Given the description of an element on the screen output the (x, y) to click on. 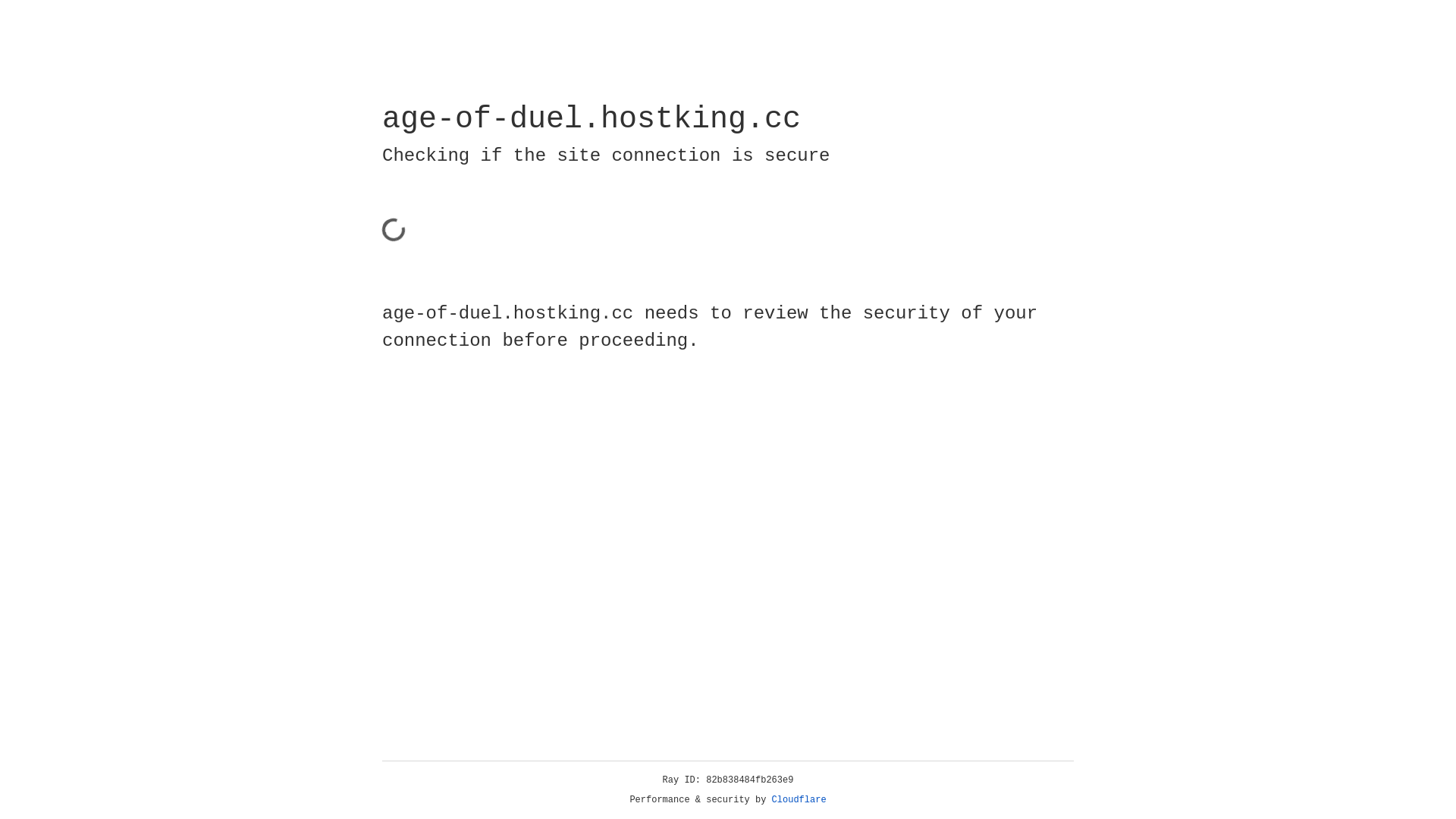
Cloudflare Element type: text (798, 799)
